Given the description of an element on the screen output the (x, y) to click on. 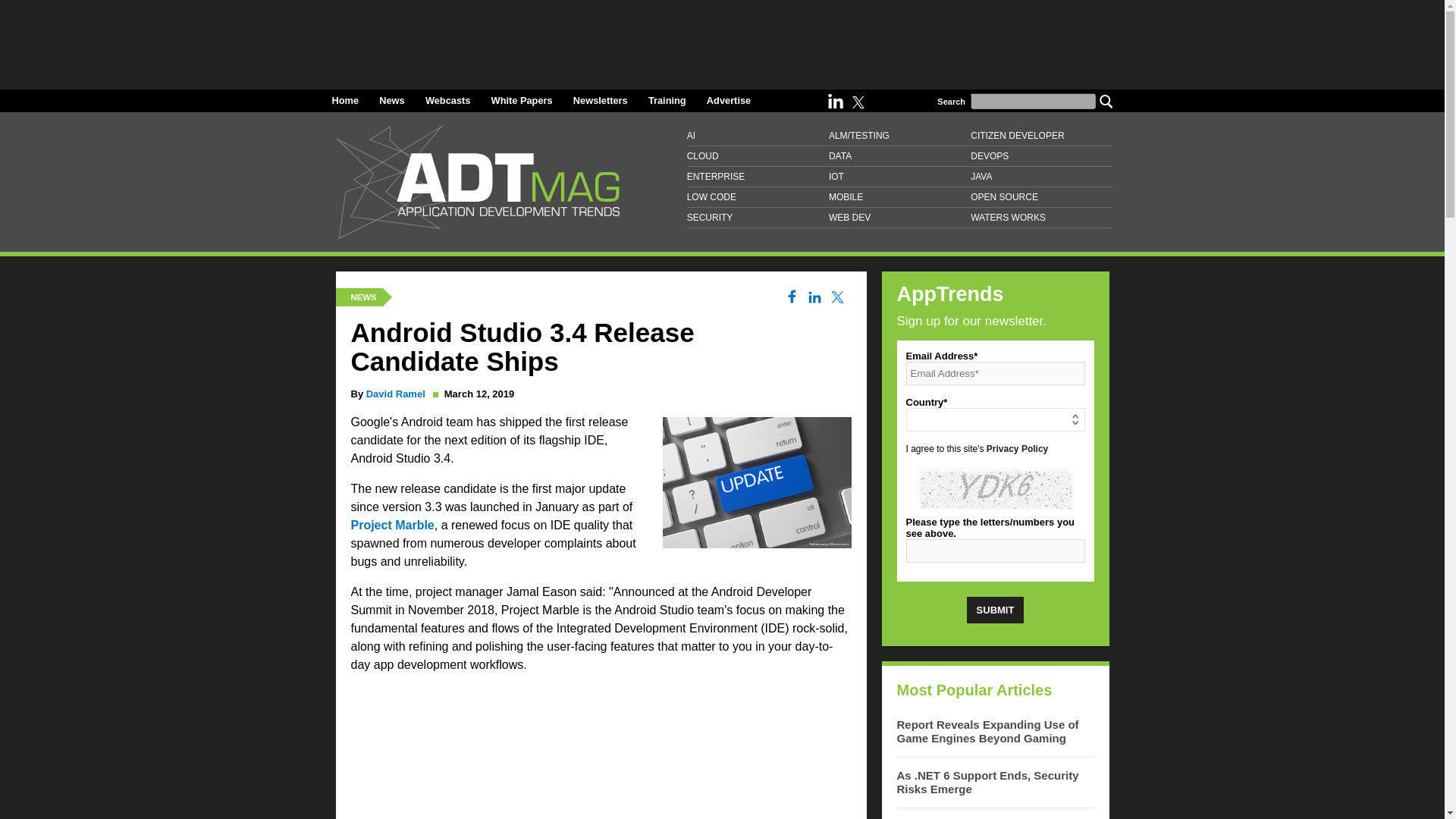
ENTERPRISE (757, 177)
AI (757, 136)
3rd party ad content (600, 752)
DATA (899, 156)
Advertise (728, 100)
IOT (899, 177)
WEB DEV (899, 218)
Search (1106, 100)
Newsletters (600, 100)
Project Marble (391, 524)
